Given the description of an element on the screen output the (x, y) to click on. 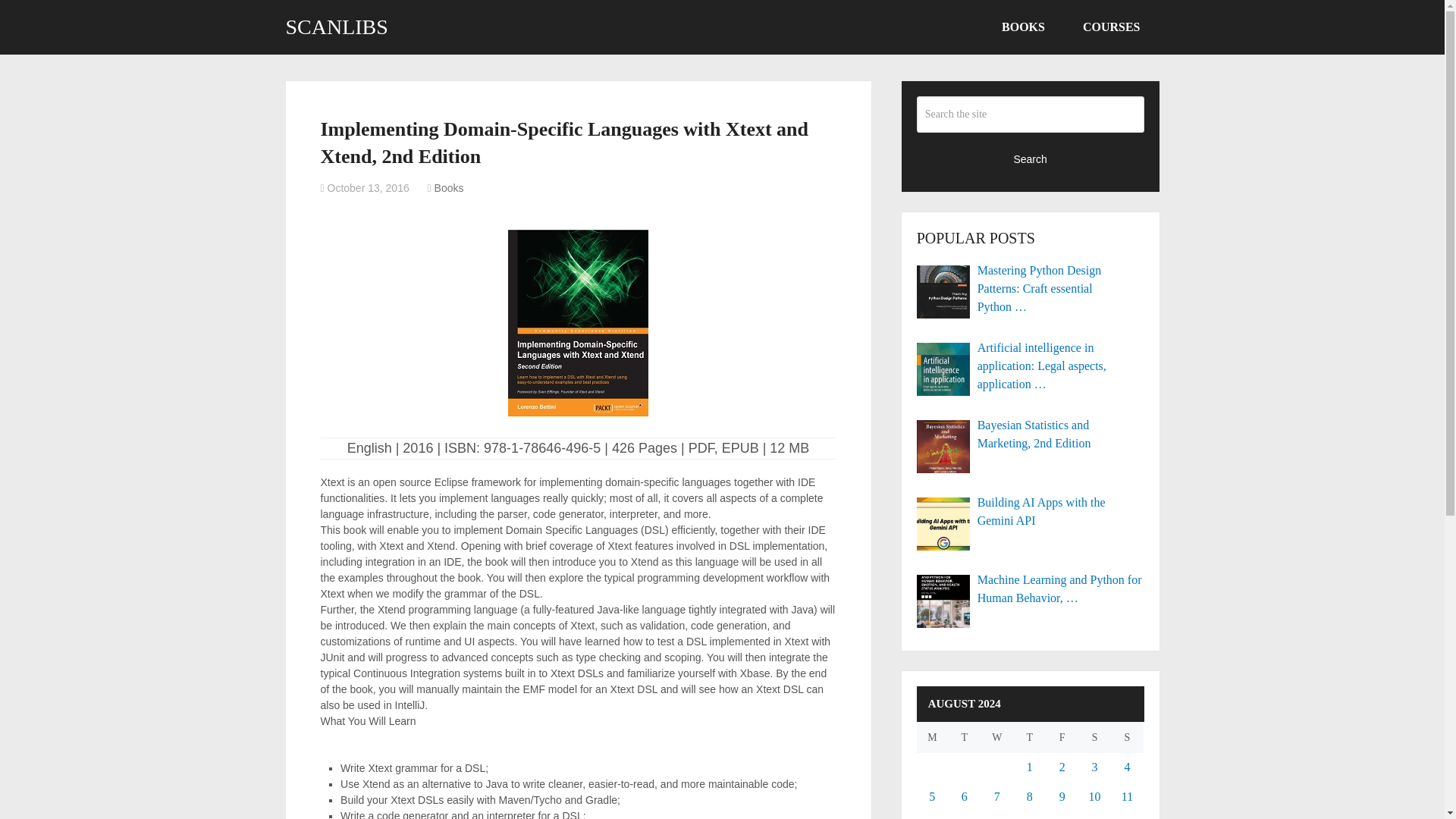
Wednesday (996, 736)
Building AI Apps with the Gemini API (1030, 511)
BOOKS (1023, 27)
View all posts in Books (448, 187)
Bayesian Statistics and Marketing, 2nd Edition (1030, 434)
COURSES (1111, 27)
Thursday (1029, 736)
Building AI Apps with the Gemini API (1030, 511)
Monday (933, 736)
